Given the description of an element on the screen output the (x, y) to click on. 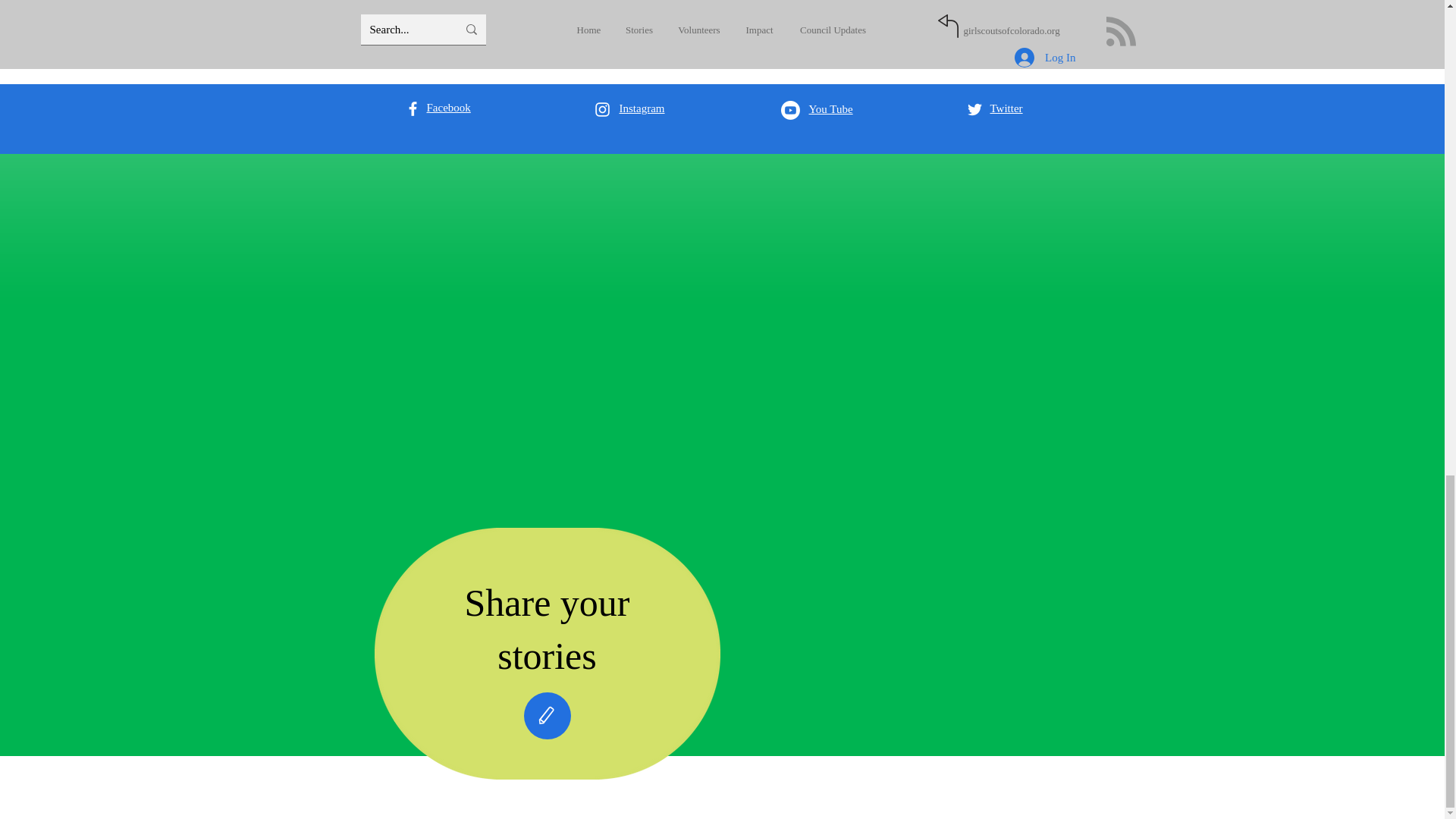
Post not marked as liked (995, 14)
Facebook (448, 107)
Instagram (640, 108)
